Given the description of an element on the screen output the (x, y) to click on. 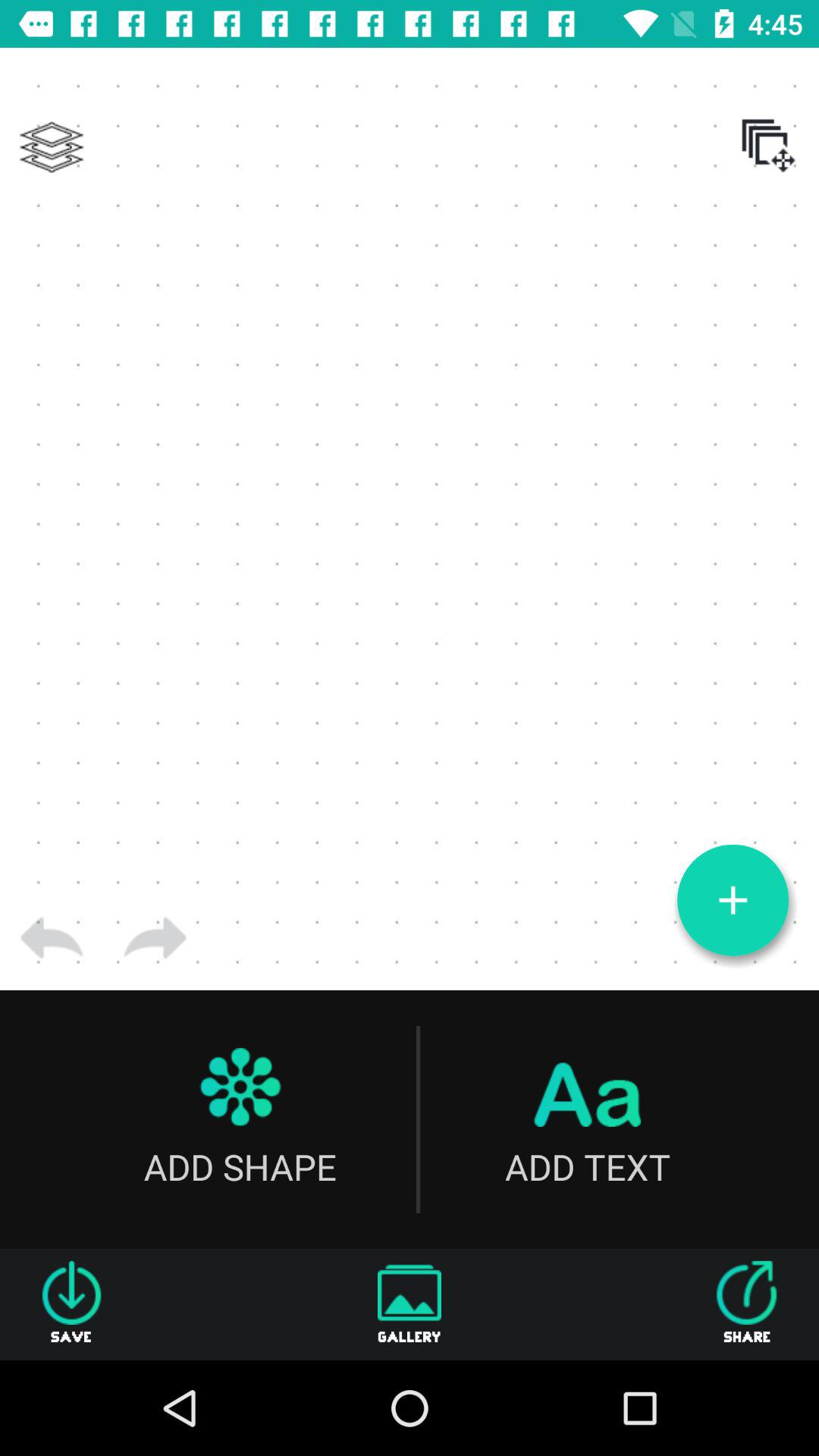
tap the item at the center (409, 518)
